Given the description of an element on the screen output the (x, y) to click on. 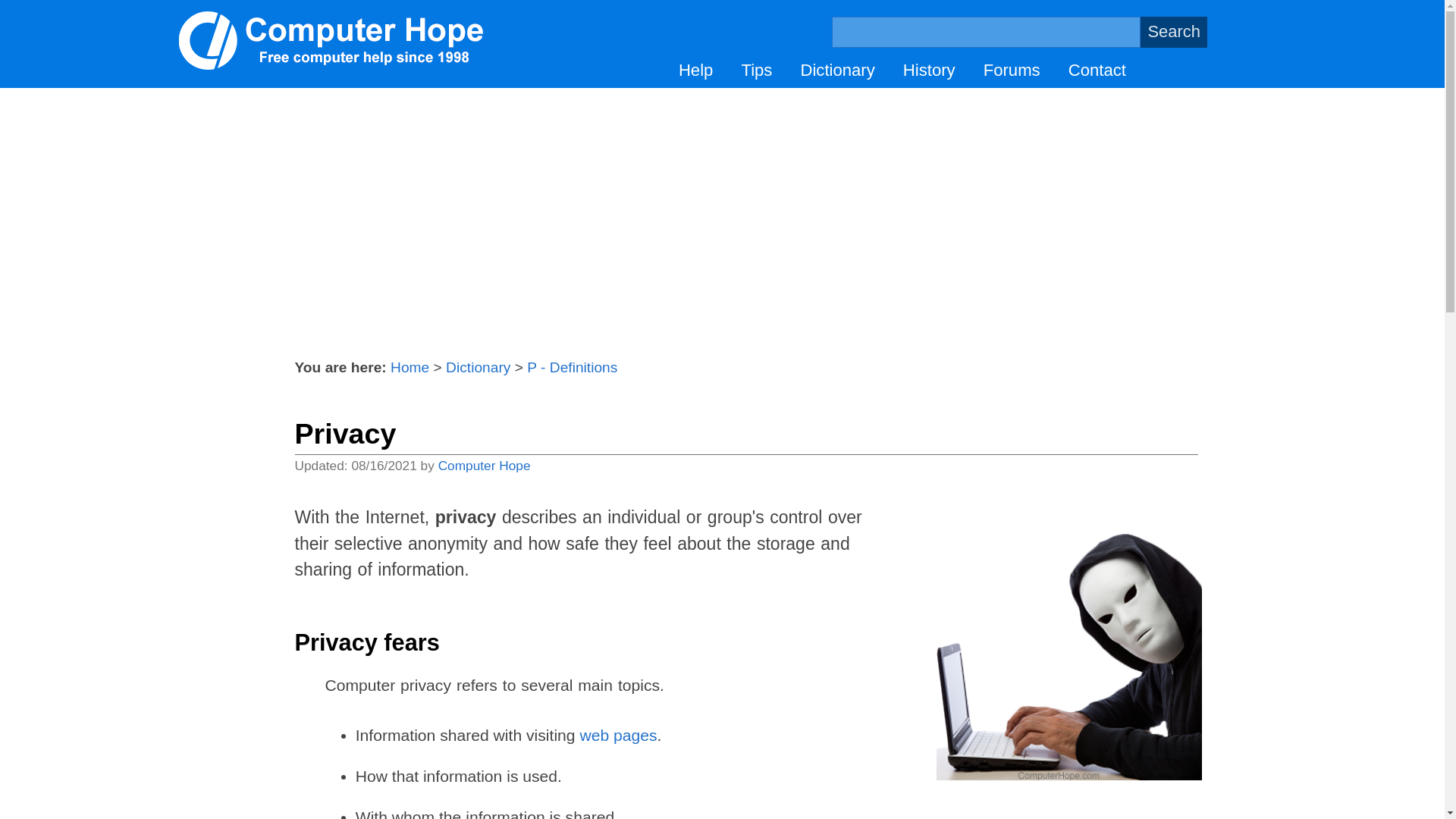
Computer terms, jargon, and glossary (837, 69)
Home (409, 367)
web pages (617, 734)
Contact Computer Hope or other computer companies (1096, 69)
Contact (1096, 69)
History (928, 69)
Questions and answers, troubleshooting, and help (695, 69)
Search (1173, 31)
Help (695, 69)
Computer Hope (484, 465)
Computer tips and tricks (756, 69)
Dictionary (837, 69)
Forums (1012, 69)
Computer Hope forums and community (1012, 69)
